Given the description of an element on the screen output the (x, y) to click on. 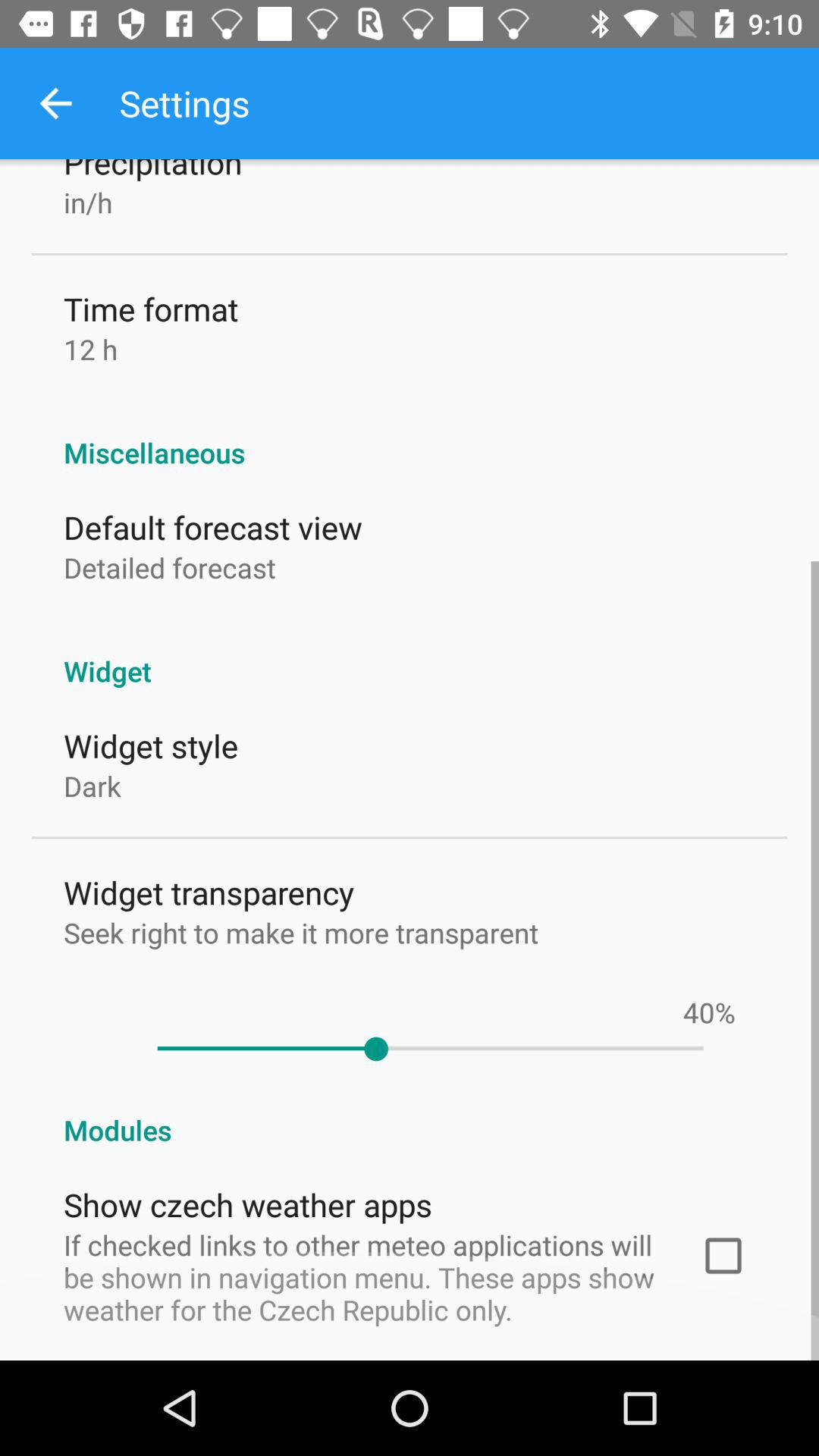
flip until dark (92, 785)
